Given the description of an element on the screen output the (x, y) to click on. 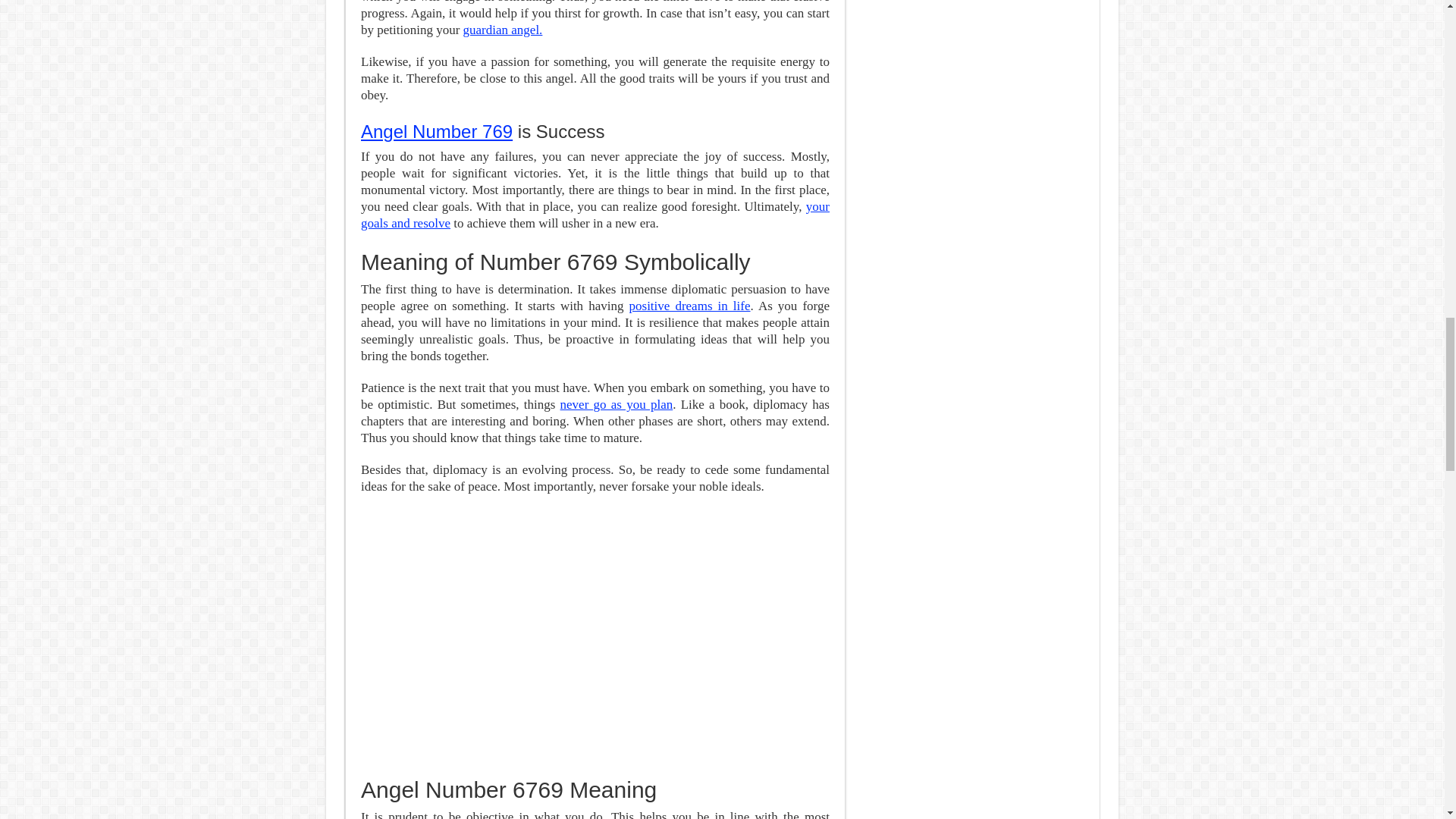
never go as you plan (616, 404)
your goals and resolve (595, 214)
guardian angel. (503, 29)
positive dreams in life (689, 305)
Angel Number 769 (436, 131)
